Given the description of an element on the screen output the (x, y) to click on. 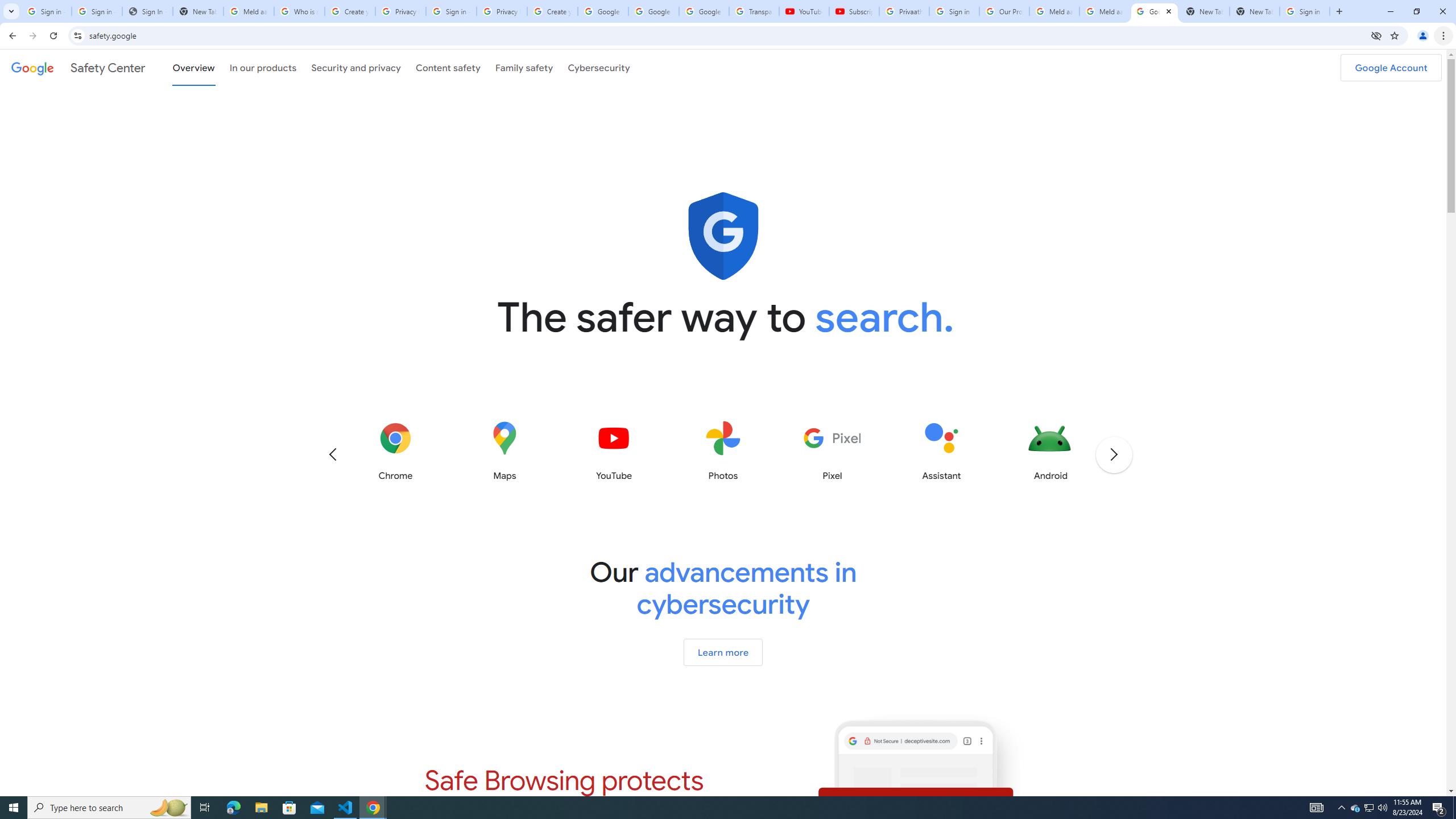
New Tab (1254, 11)
Create your Google Account (552, 11)
Family safety (523, 67)
Sign in - Google Accounts (954, 11)
Previous (332, 453)
In our products (262, 67)
Create your Google Account (350, 11)
Content safety (447, 67)
